Given the description of an element on the screen output the (x, y) to click on. 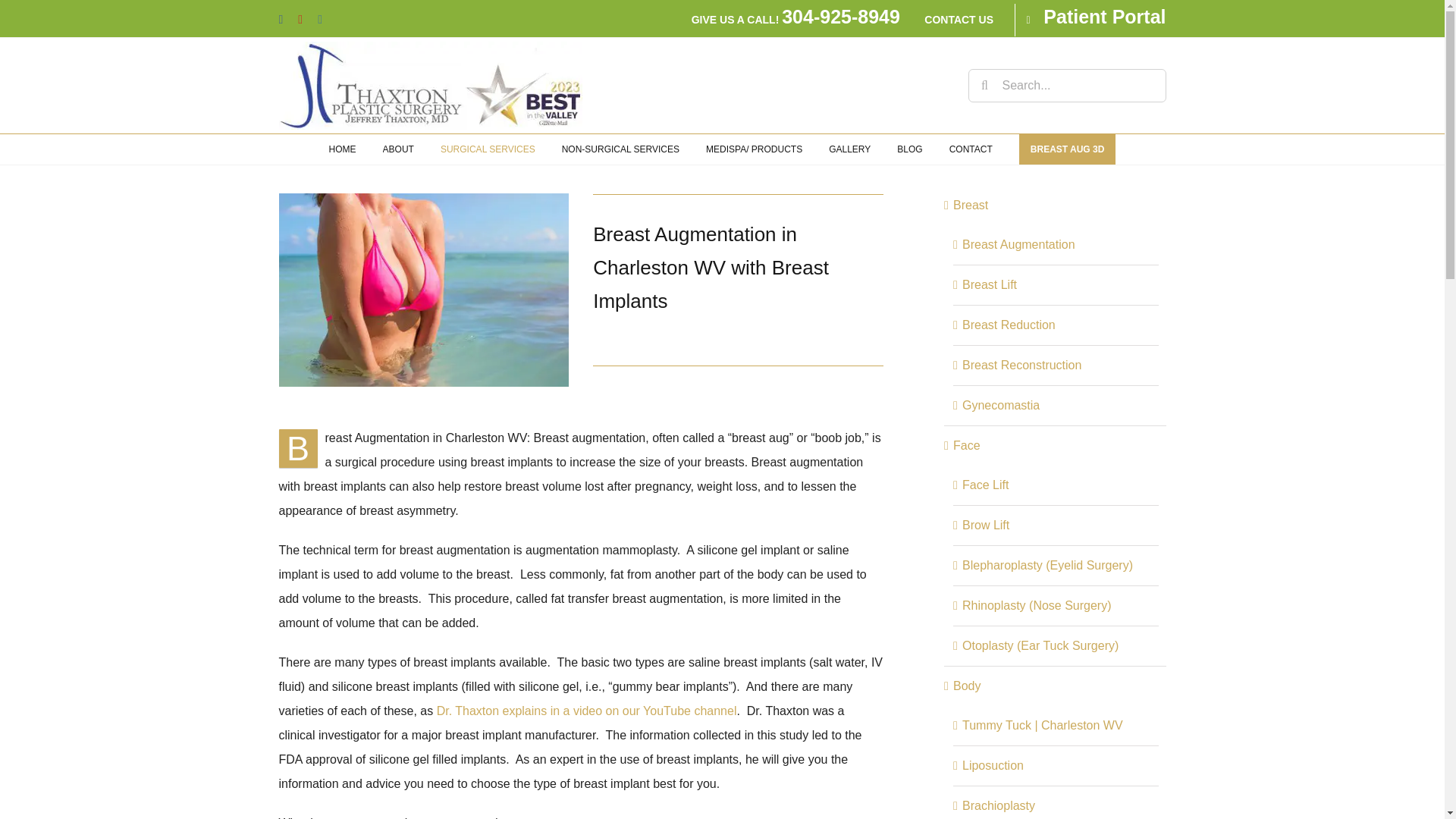
Crisalix 3D (1067, 149)
HOME (342, 149)
CONTACT US (971, 20)
SURGICAL SERVICES (488, 149)
ABOUT (397, 149)
Patient Portal (1104, 16)
home (342, 149)
